Given the description of an element on the screen output the (x, y) to click on. 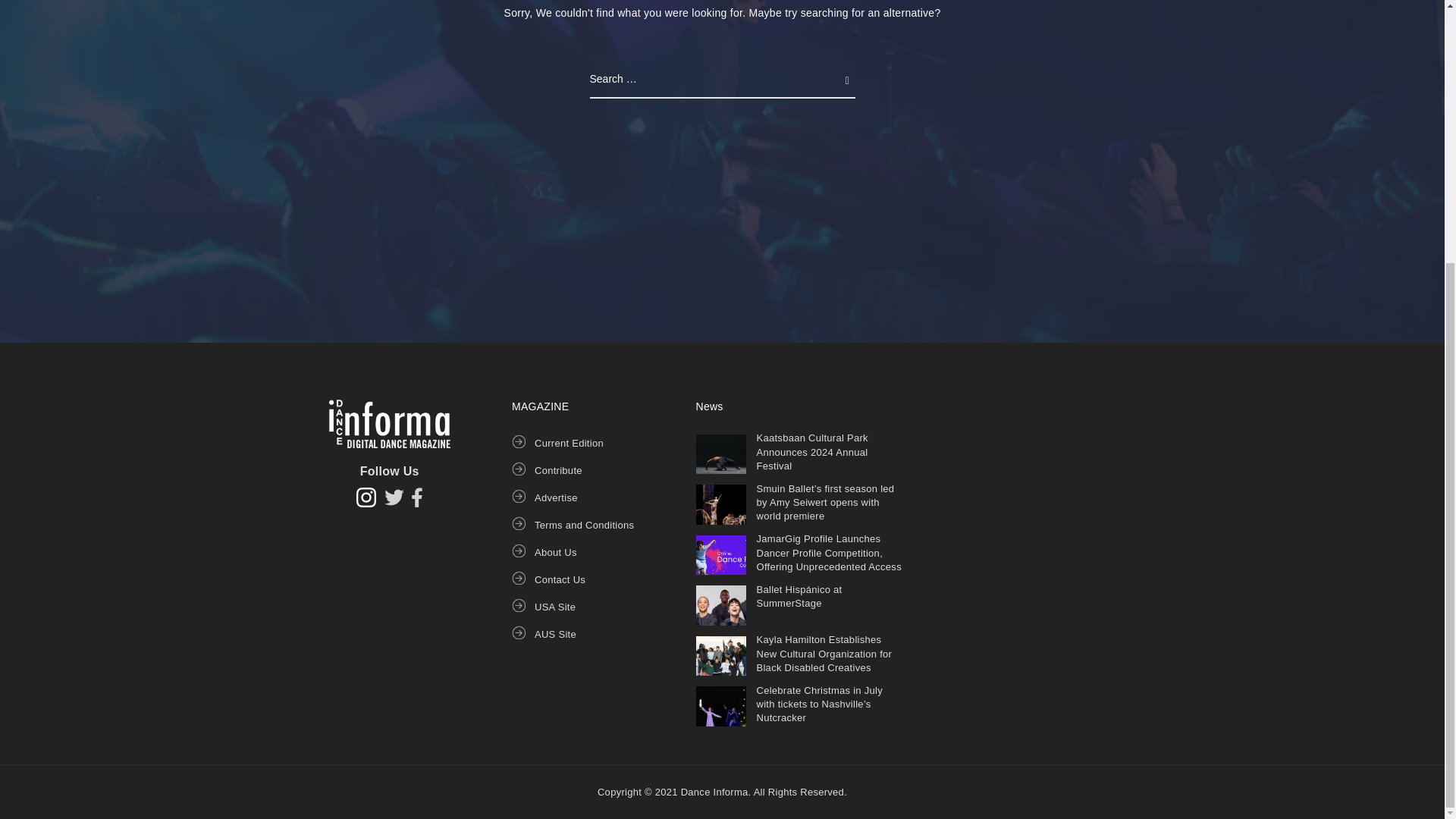
Advertise (556, 497)
USA Site (554, 606)
Contribute (558, 470)
Kaatsbaan Cultural Park Announces 2024 Annual Festival (812, 451)
AUS Site (555, 633)
Terms and Conditions (583, 524)
About Us (555, 552)
Contact Us (559, 579)
Current Edition (569, 442)
